Given the description of an element on the screen output the (x, y) to click on. 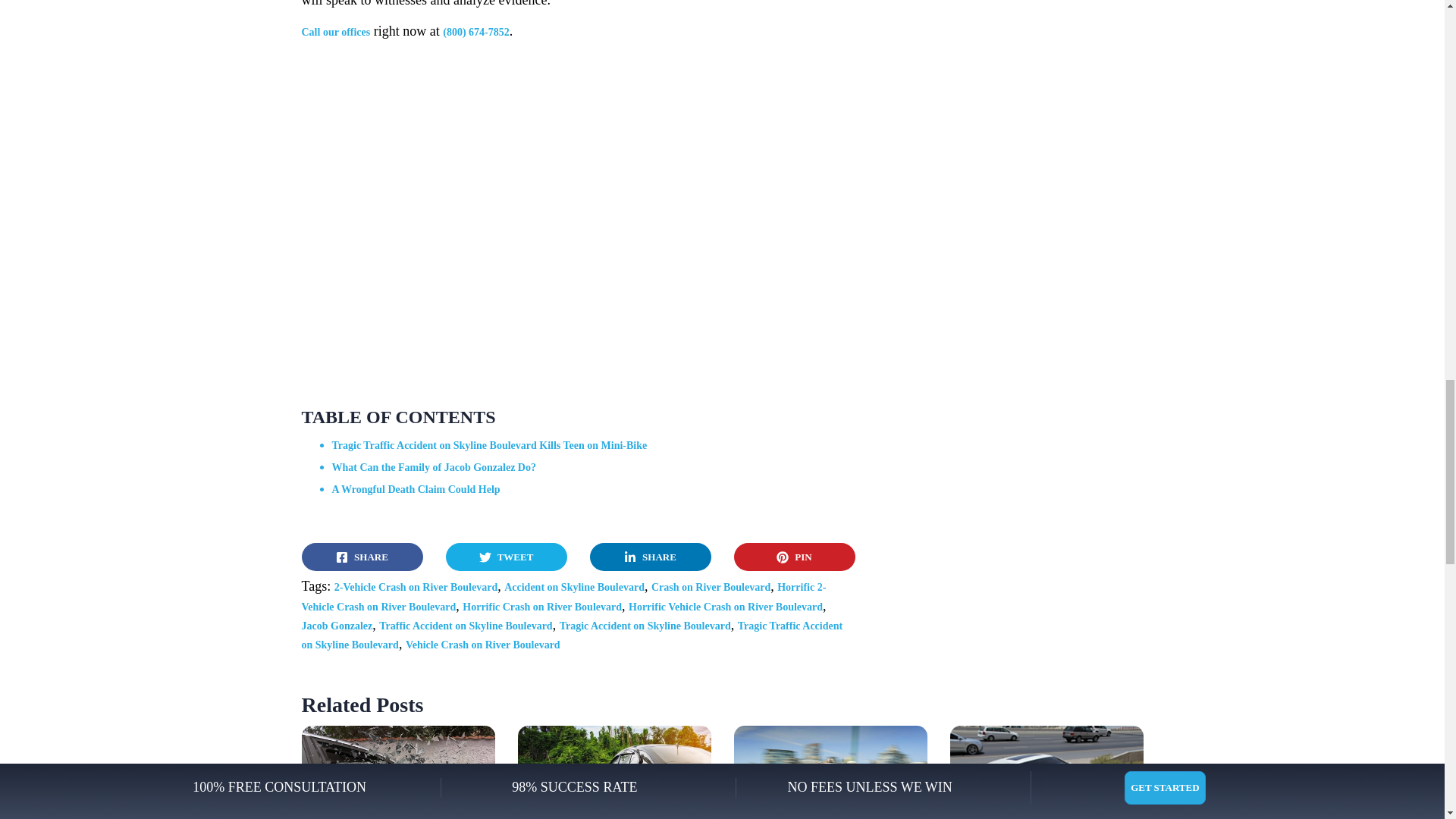
SHARE (362, 556)
PIN (794, 556)
What Can the Family of Jacob Gonzalez Do? (433, 467)
Tragic Traffic Accident on Skyline Boulevard (572, 634)
Horrific 2-Vehicle Crash on River Boulevard (564, 596)
Jacob Gonzalez (336, 625)
Traffic Accident on Skyline Boulevard (464, 625)
Horrific Crash on River Boulevard (542, 606)
2-Vehicle Crash on River Boulevard (415, 586)
